Given the description of an element on the screen output the (x, y) to click on. 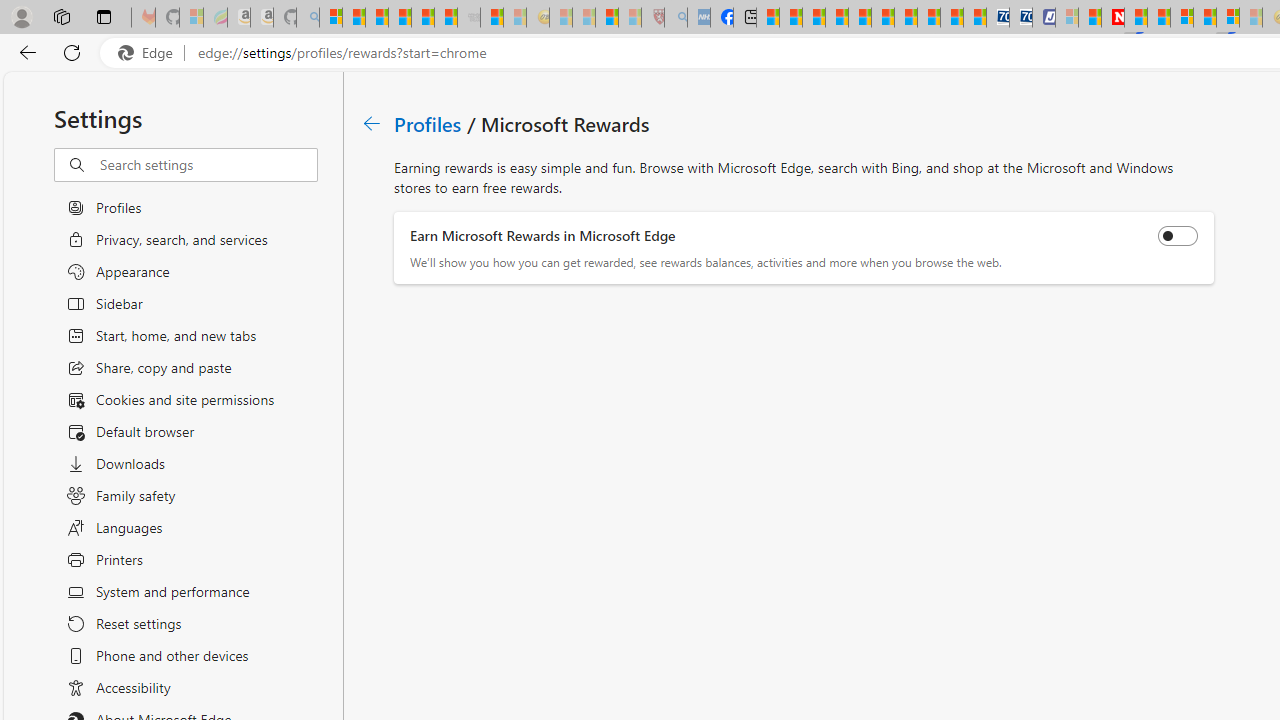
Profiles (429, 123)
Cheap Car Rentals - Save70.com (997, 17)
Cheap Hotels - Save70.com (1020, 17)
World - MSN (813, 17)
